Given the description of an element on the screen output the (x, y) to click on. 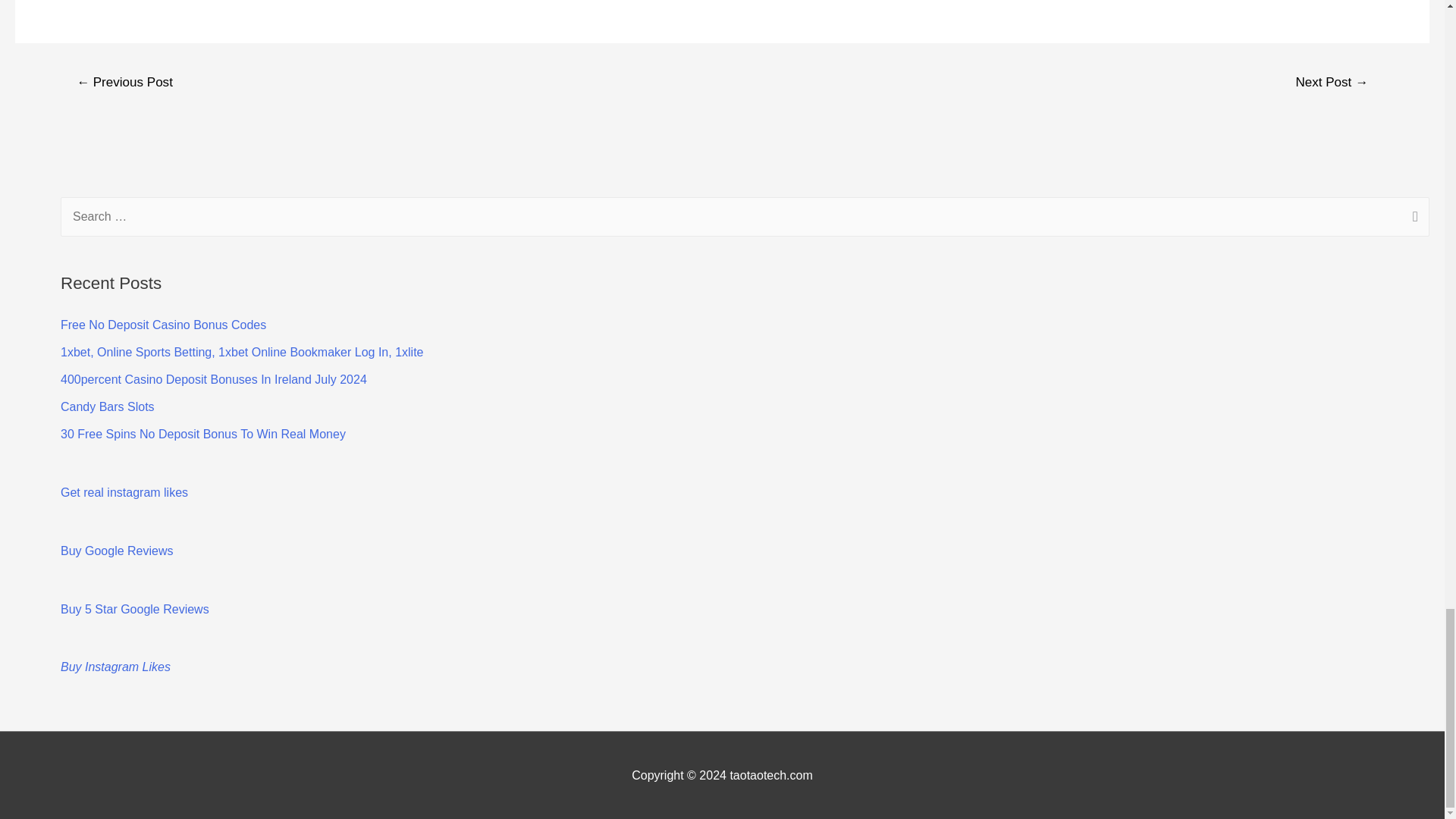
Buy Google Reviews (117, 550)
Buy 5 Star Google Reviews (135, 608)
Buy Instagram Likes (115, 666)
400percent Casino Deposit Bonuses In Ireland July 2024 (213, 379)
Free No Deposit Casino Bonus Codes (163, 324)
Get real instagram likes (124, 492)
Candy Bars Slots (107, 406)
30 Free Spins No Deposit Bonus To Win Real Money (203, 433)
